Given the description of an element on the screen output the (x, y) to click on. 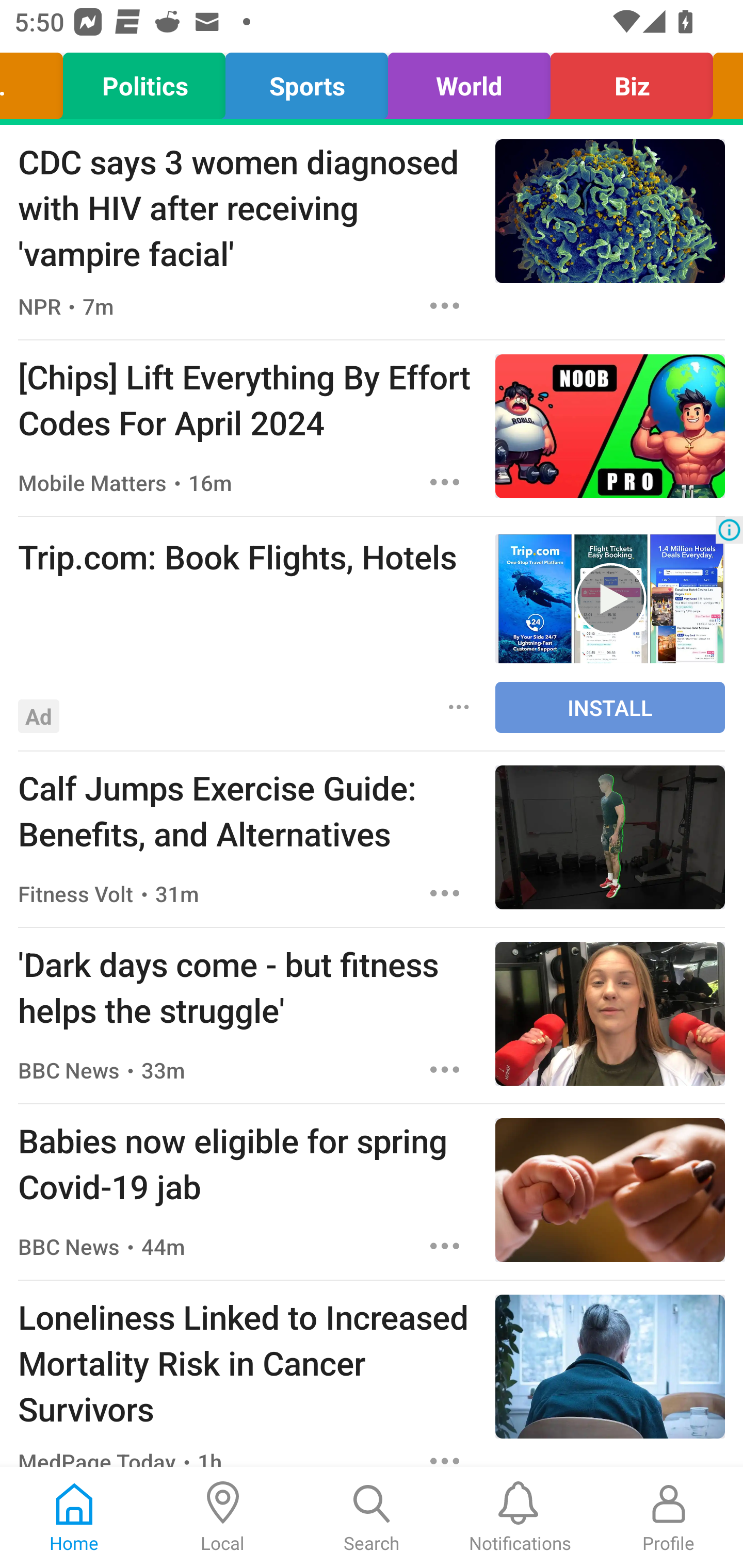
Politics (144, 81)
Sports (306, 81)
World (469, 81)
Biz (631, 81)
Options (444, 305)
Options (444, 481)
Ad Choices Icon (729, 529)
Trip.com: Book Flights, Hotels (247, 556)
INSTALL (610, 707)
Options (459, 706)
Options (444, 893)
Options (444, 1069)
Options (444, 1246)
Options (444, 1453)
Local (222, 1517)
Search (371, 1517)
Notifications (519, 1517)
Profile (668, 1517)
